Given the description of an element on the screen output the (x, y) to click on. 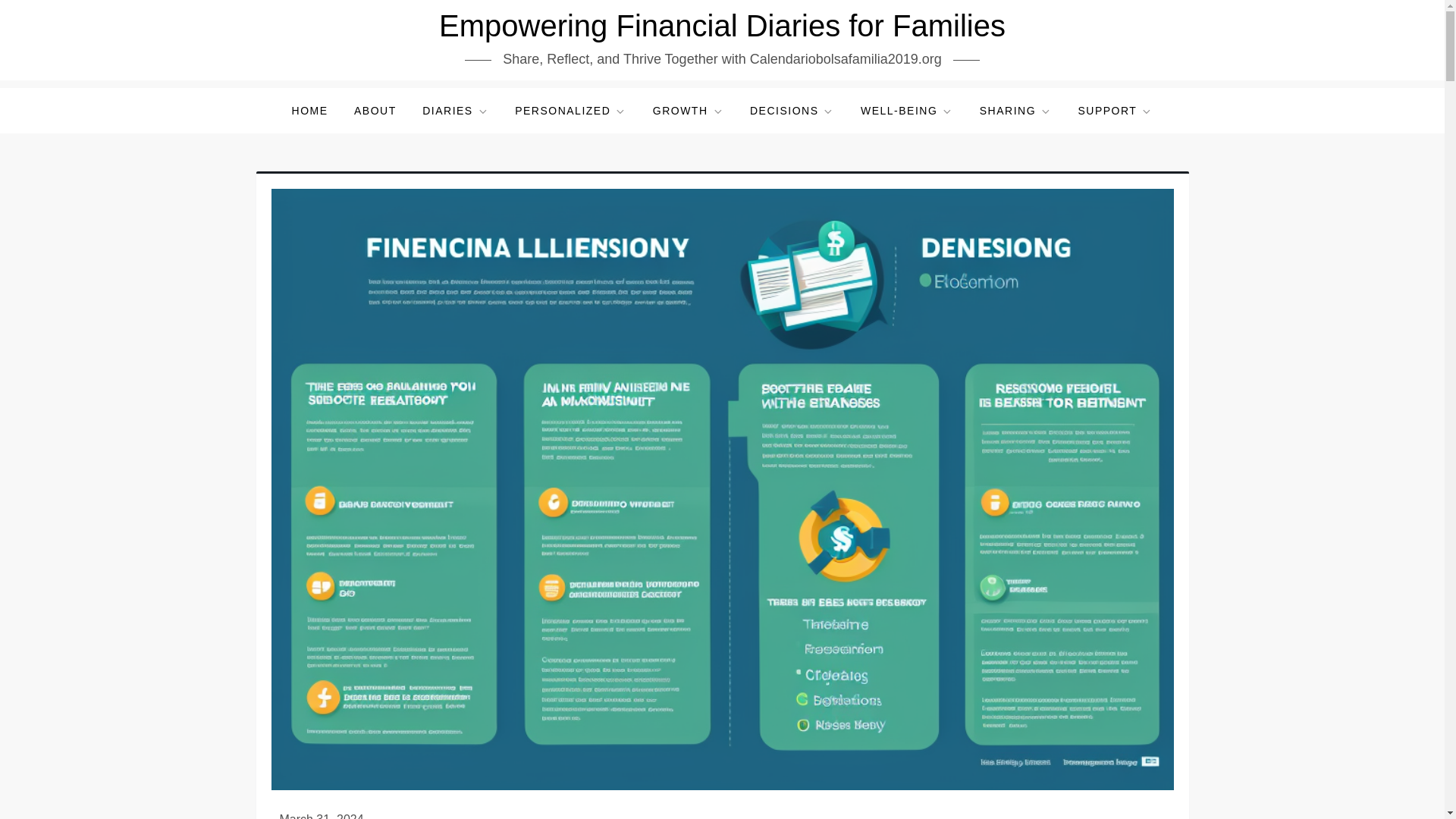
Empowering Financial Diaries for Families (722, 25)
DIARIES (455, 110)
DECISIONS (791, 110)
WELL-BEING (905, 110)
SHARING (1015, 110)
SUPPORT (1114, 110)
PERSONALIZED (570, 110)
HOME (310, 110)
ABOUT (374, 110)
March 31, 2024 (320, 816)
GROWTH (688, 110)
